Given the description of an element on the screen output the (x, y) to click on. 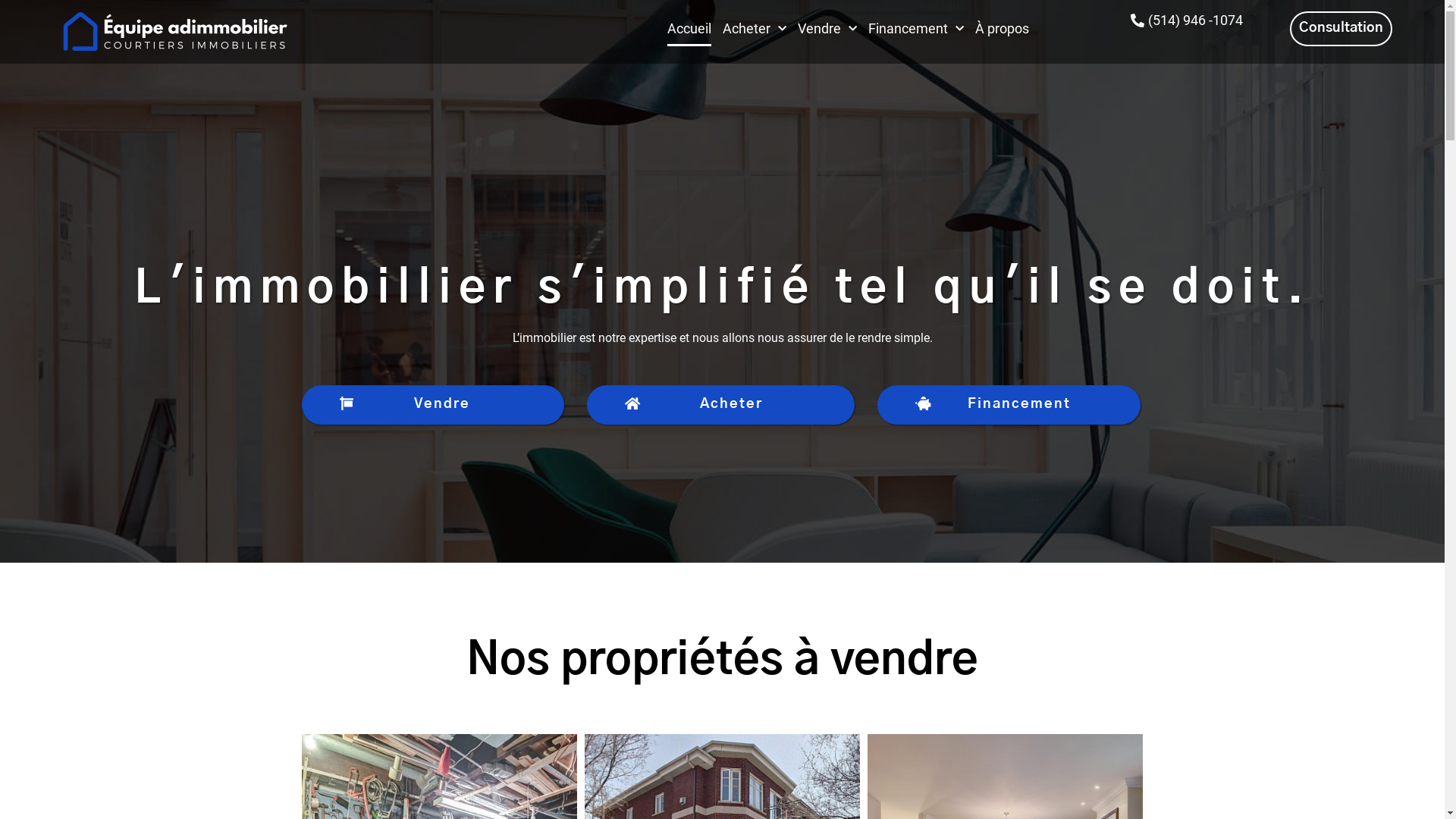
Financement Element type: text (915, 28)
Acheter Element type: text (754, 28)
Vendre Element type: text (432, 405)
Accueil Element type: text (689, 28)
Acheter Element type: text (720, 405)
Vendre Element type: text (826, 28)
Consultation Element type: text (1340, 28)
Financement Element type: text (1008, 405)
